Given the description of an element on the screen output the (x, y) to click on. 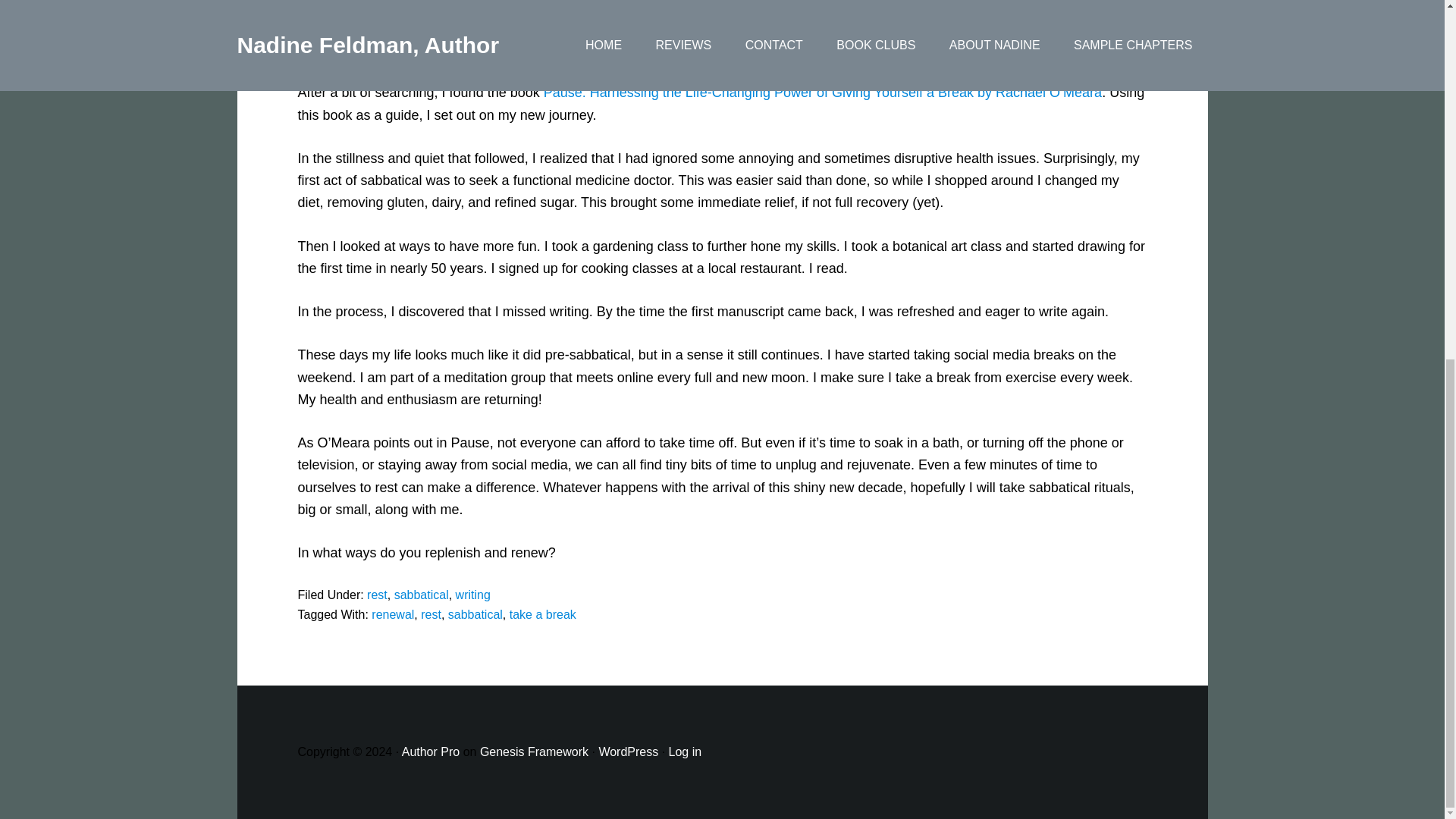
Author Pro (430, 751)
sabbatical (475, 614)
writing (472, 594)
WordPress (628, 751)
renewal (392, 614)
take a break (542, 614)
rest (430, 614)
Log in (684, 751)
sabbatical (421, 594)
rest (376, 594)
Genesis Framework (534, 751)
